Given the description of an element on the screen output the (x, y) to click on. 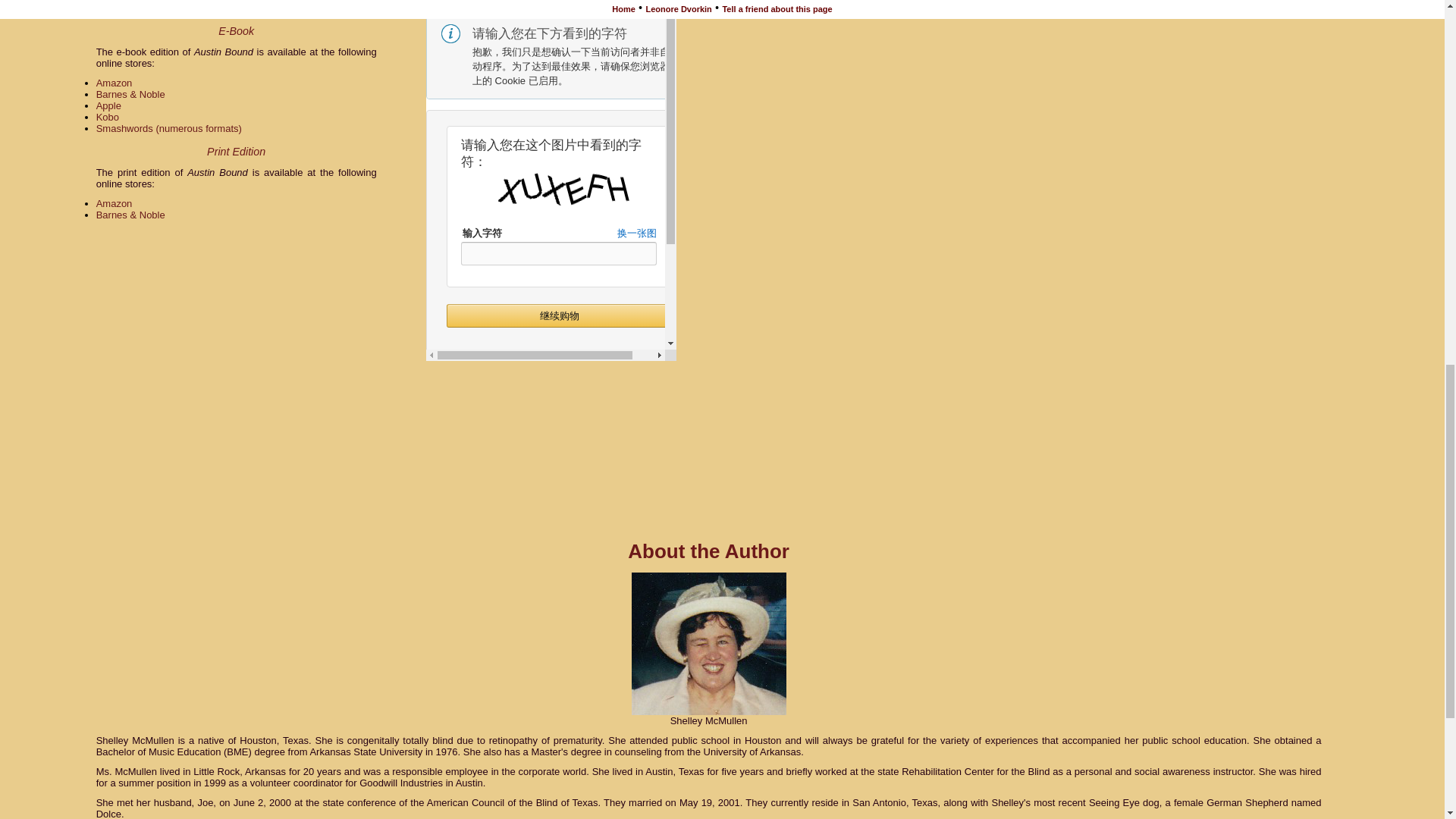
Amazon (114, 82)
Amazon (114, 203)
Kobo (107, 116)
Apple (108, 105)
